Given the description of an element on the screen output the (x, y) to click on. 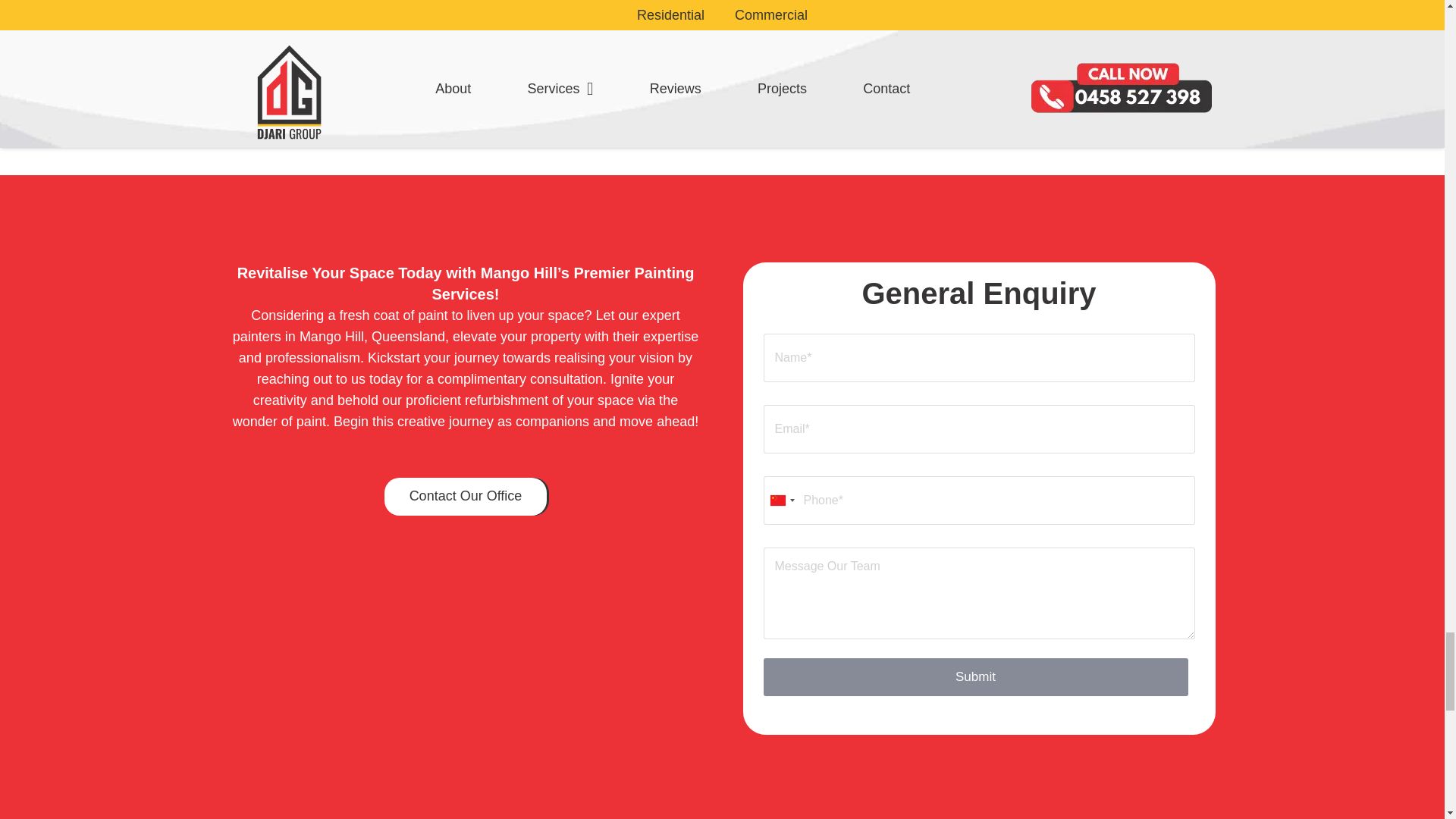
Submit (975, 677)
Contact Our Office (465, 496)
